Given the description of an element on the screen output the (x, y) to click on. 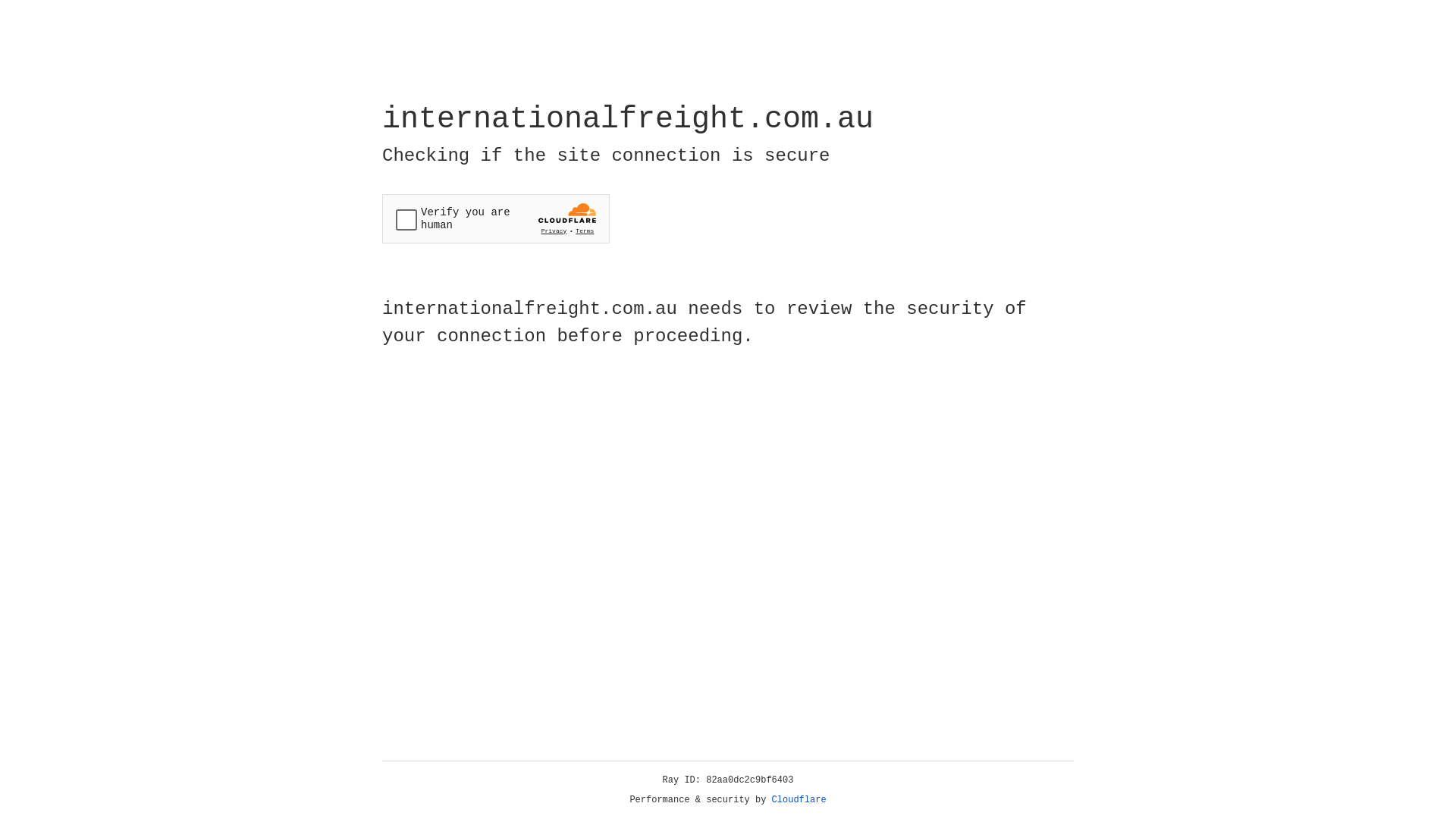
Cloudflare Element type: text (798, 799)
Widget containing a Cloudflare security challenge Element type: hover (495, 218)
